Given the description of an element on the screen output the (x, y) to click on. 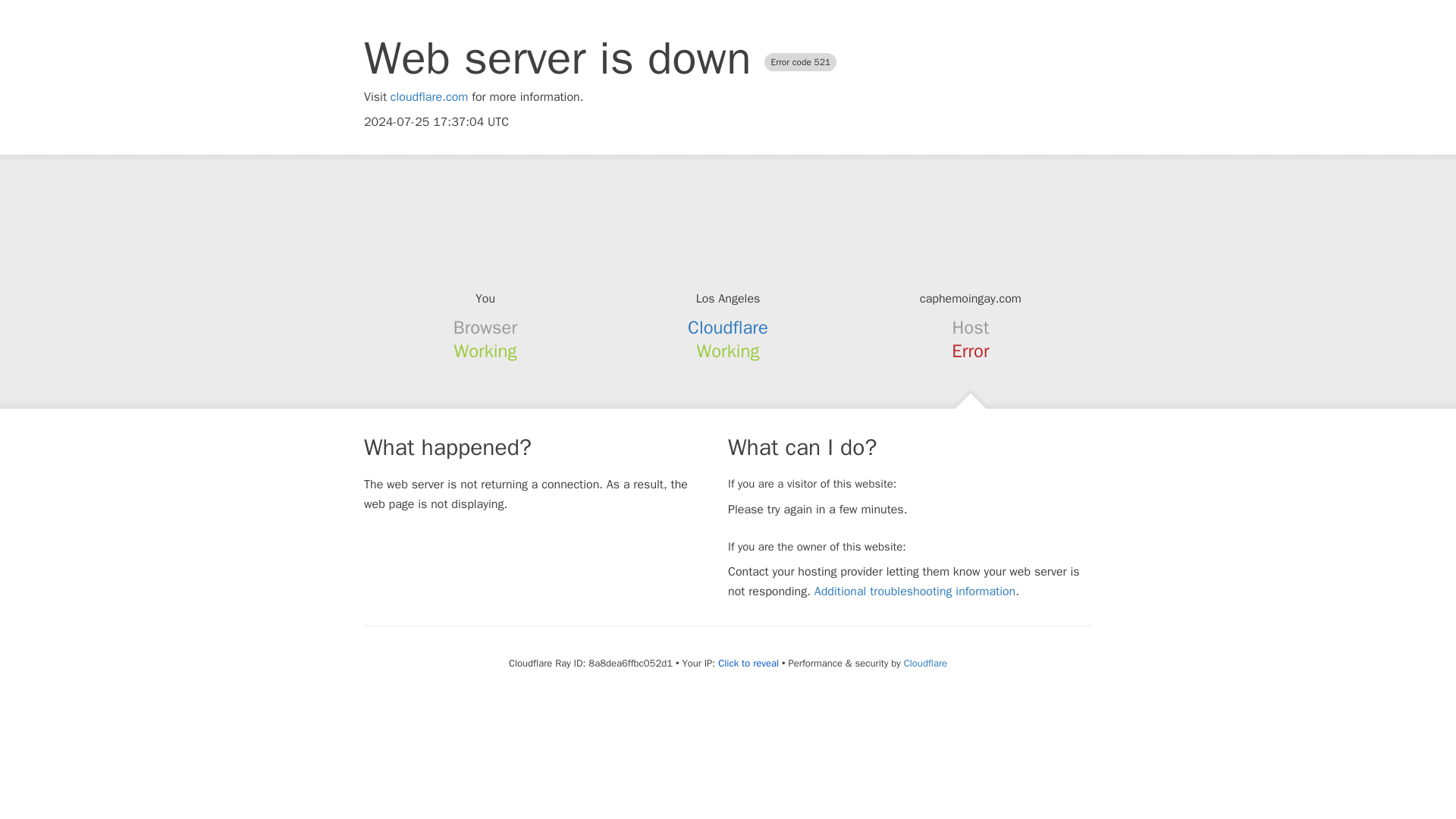
Cloudflare (925, 662)
cloudflare.com (429, 96)
Click to reveal (747, 663)
Cloudflare (727, 327)
Additional troubleshooting information (913, 590)
